Given the description of an element on the screen output the (x, y) to click on. 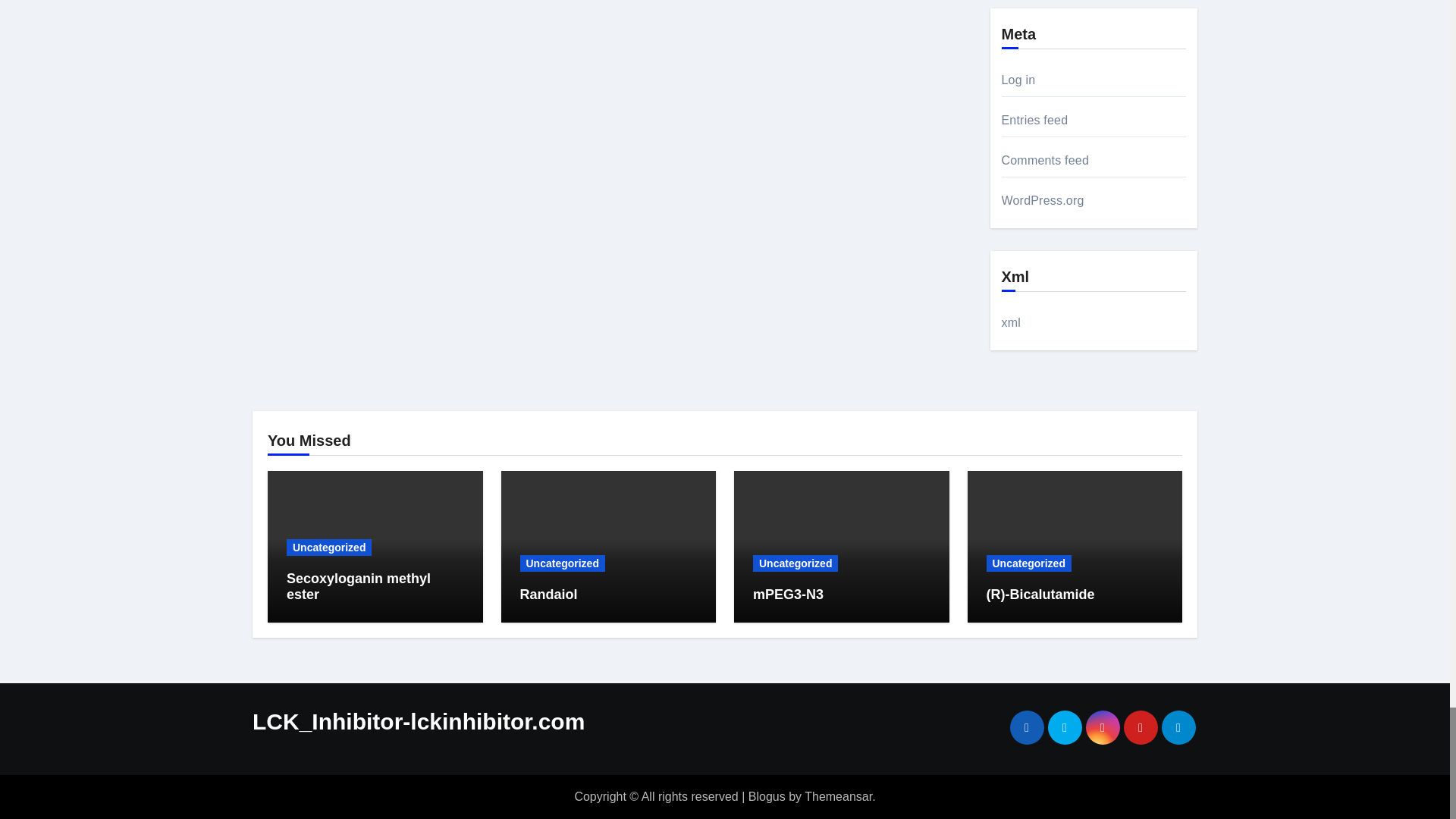
Permalink to: Randaiol (548, 594)
Permalink to: Secoxyloganin methyl ester (358, 586)
Permalink to: mPEG3-N3 (788, 594)
